Given the description of an element on the screen output the (x, y) to click on. 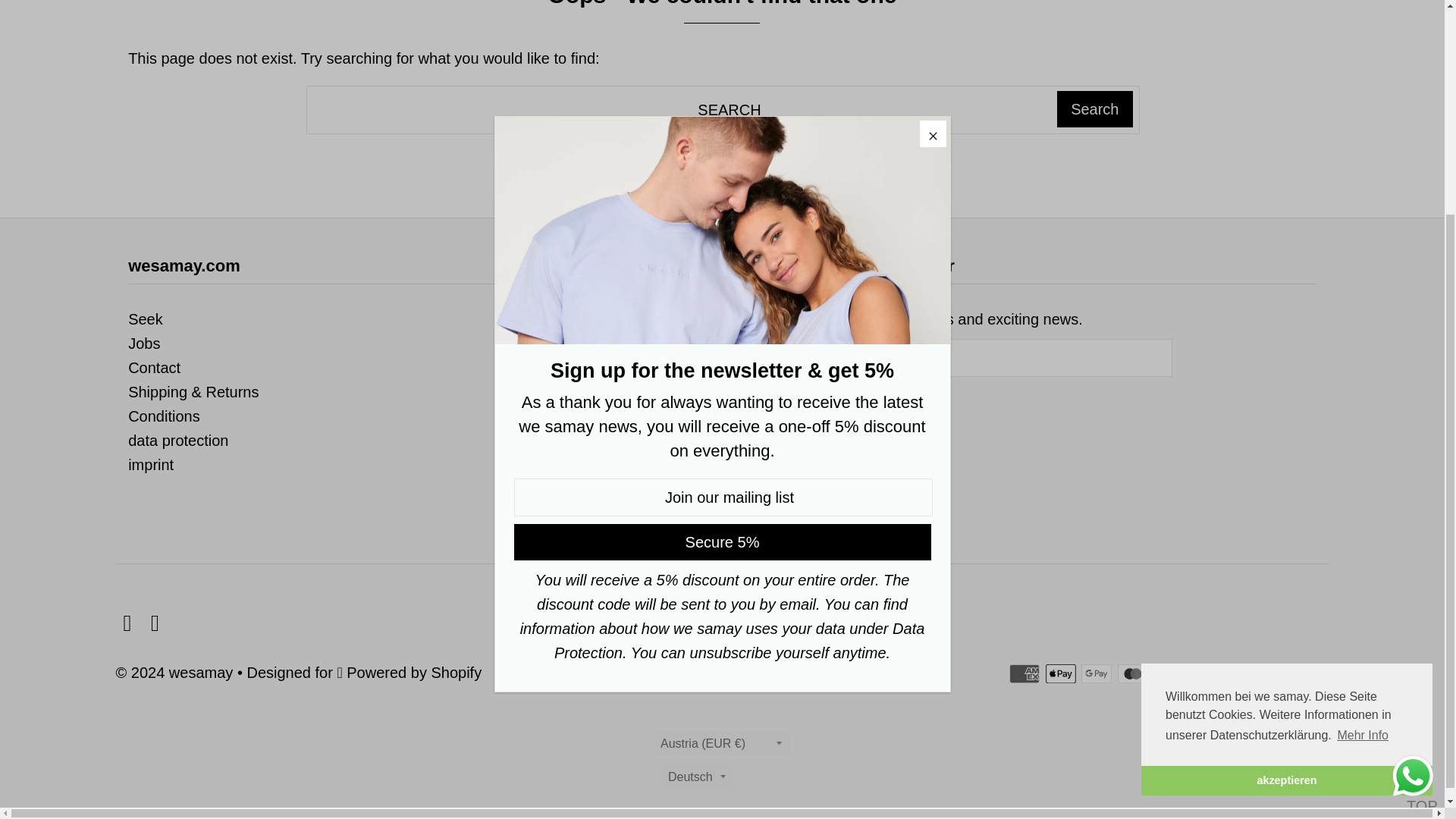
Search (1094, 108)
Google Pay (1096, 673)
Visa (1312, 673)
akzeptieren (1286, 494)
Maestro (1133, 673)
Join (807, 394)
American Express (1024, 673)
Mehr Info (1362, 448)
Union Pay (1277, 673)
Apple Pay (1060, 673)
TOP (1417, 494)
PayPal (1204, 673)
Shop Pay (1240, 673)
Mastercard (1168, 673)
